Given the description of an element on the screen output the (x, y) to click on. 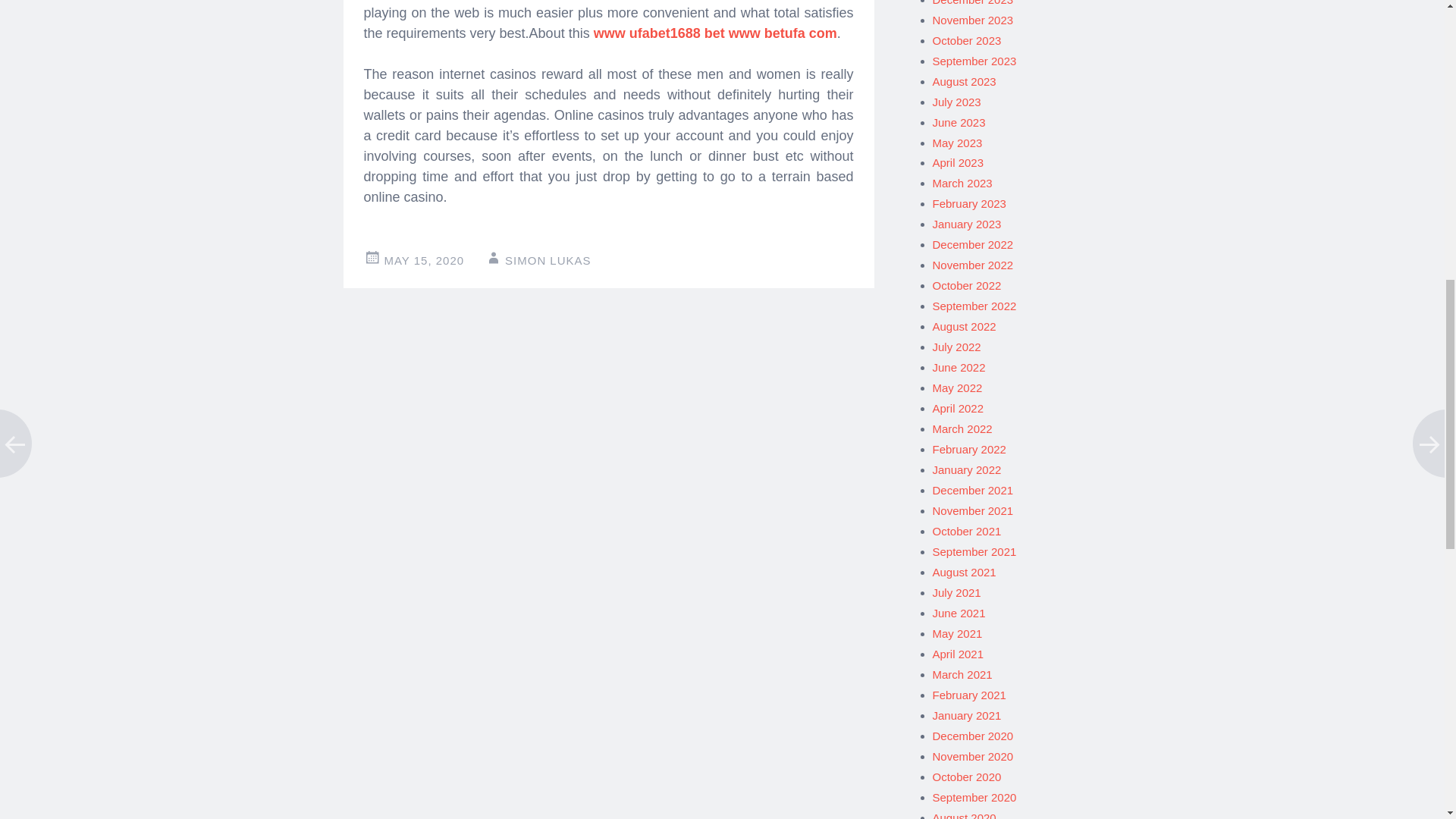
December 2023 (973, 2)
November 2023 (973, 19)
December 2022 (973, 244)
April 2023 (958, 162)
June 2023 (959, 122)
May 2023 (957, 142)
www ufabet1688 bet www betufa com (715, 32)
View all posts by Simon Lukas (548, 259)
February 2023 (969, 203)
MAY 15, 2020 (424, 259)
October 2023 (967, 40)
March 2023 (962, 182)
August 2023 (964, 81)
July 2023 (957, 101)
January 2023 (967, 223)
